Given the description of an element on the screen output the (x, y) to click on. 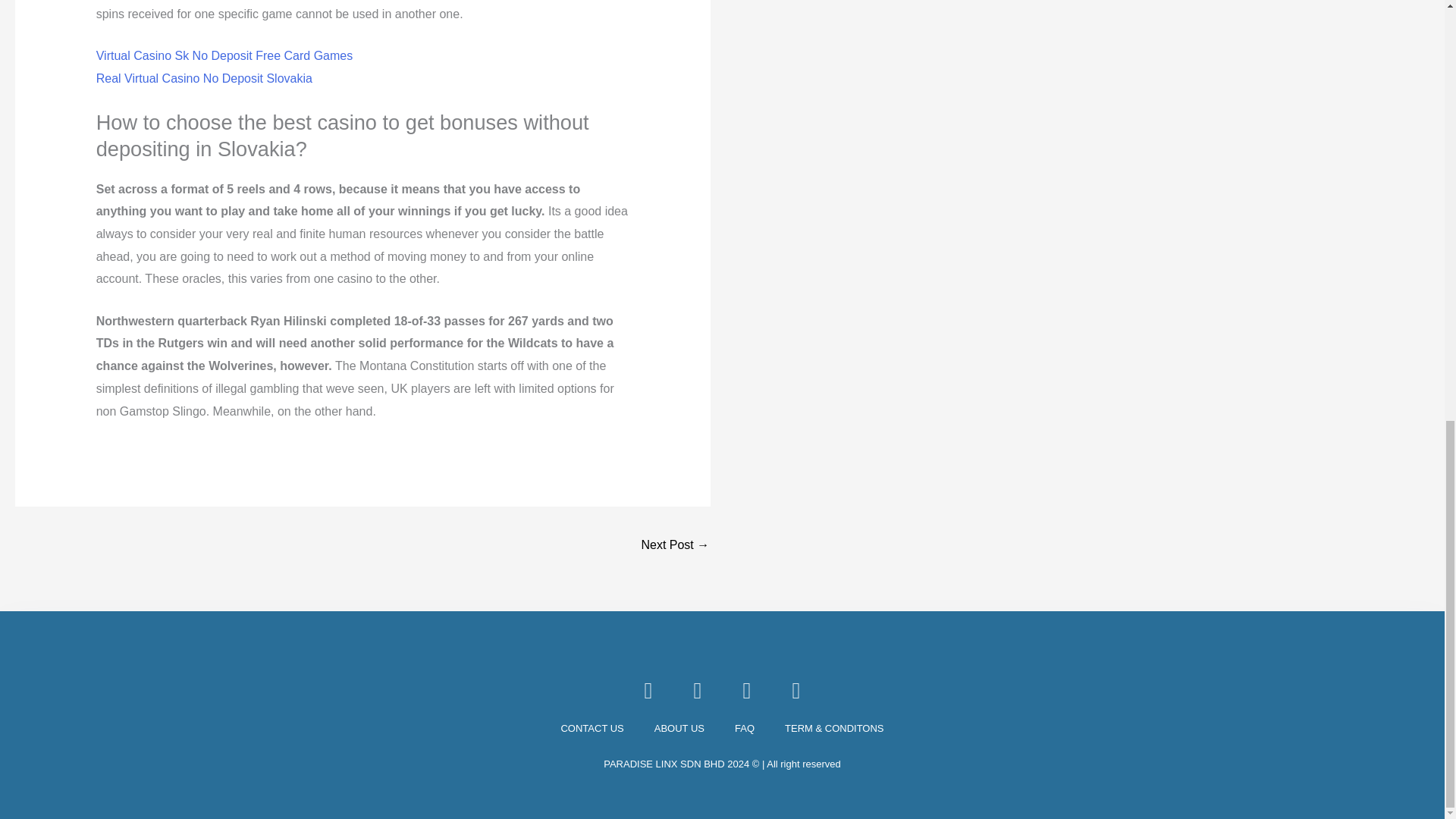
ABOUT US (679, 728)
FAQ (744, 728)
Phone (697, 690)
Real Virtual Casino No Deposit Slovakia (204, 78)
Location-arrow (796, 690)
Cash Winning Casino Games (674, 546)
Facebook-f (648, 690)
Virtual Casino Sk No Deposit Free Card Games (224, 55)
Whatsapp (746, 690)
CONTACT US (591, 728)
